Given the description of an element on the screen output the (x, y) to click on. 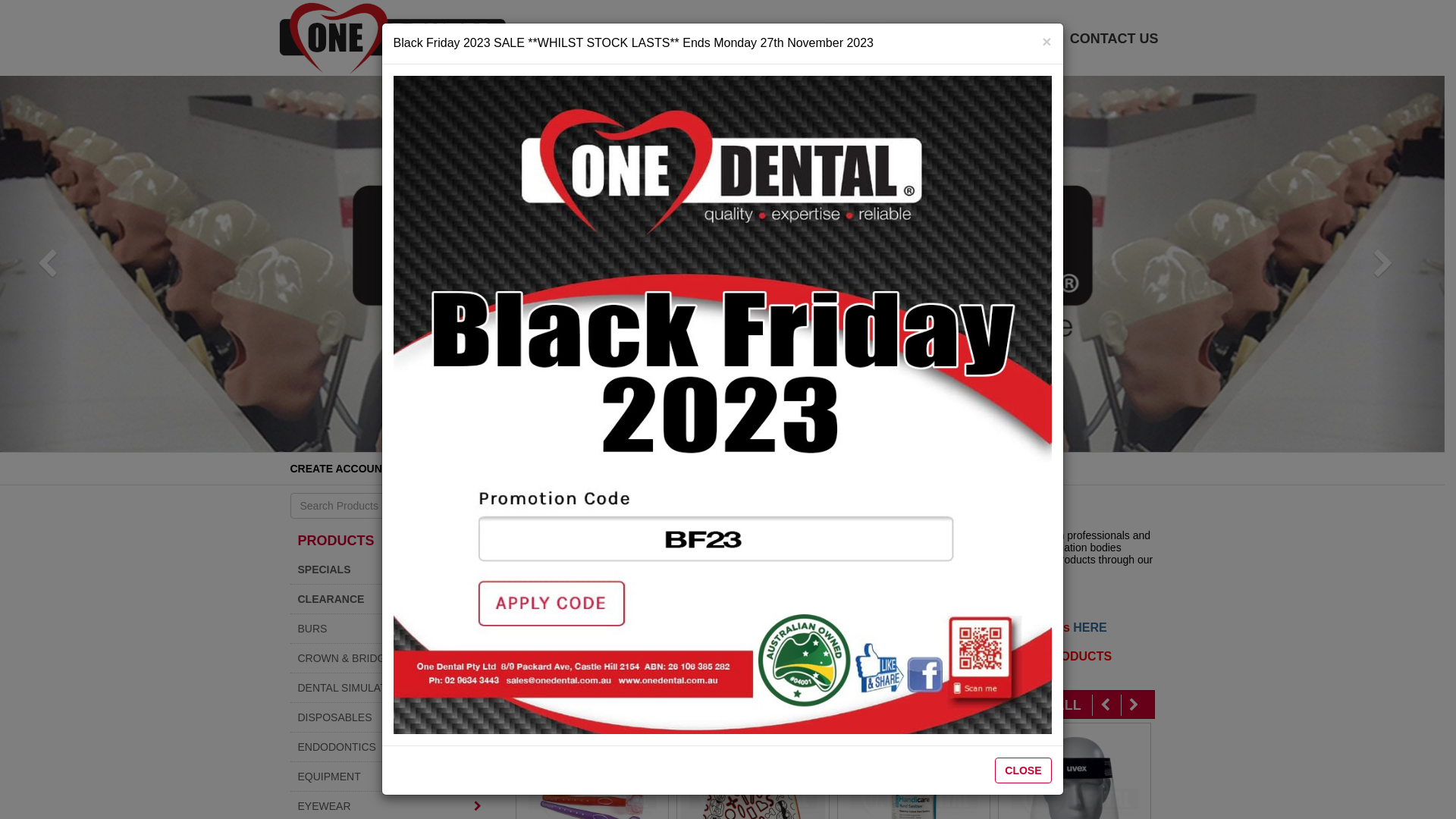
Search Products Element type: hover (474, 505)
VIEW ALL Element type: text (1047, 704)
CLEARANCE Element type: text (389, 598)
INFORMATION Element type: text (943, 38)
HOME Element type: text (853, 38)
SPECIALS Element type: text (389, 569)
HERE Element type: text (1089, 627)
view our catalogue Element type: text (796, 627)
CONTACT US Element type: text (1114, 38)
CLOSE Element type: text (1022, 770)
LOG IN Element type: text (428, 468)
BURS Element type: text (389, 628)
Go! Element type: text (474, 505)
CREATE ACCOUNT Element type: text (338, 468)
CROWN & BRIDGE Element type: text (389, 657)
ENDODONTICS Element type: text (389, 746)
PRODUCTS Element type: text (335, 540)
EQUIPMENT Element type: text (389, 776)
NEWS Element type: text (1033, 38)
One Dental Pty Ltd Home Element type: hover (392, 37)
DENTAL SIMULATION Element type: text (389, 687)
Login Element type: text (697, 627)
Create Account Element type: text (711, 655)
DISPOSABLES Element type: text (389, 716)
